Given the description of an element on the screen output the (x, y) to click on. 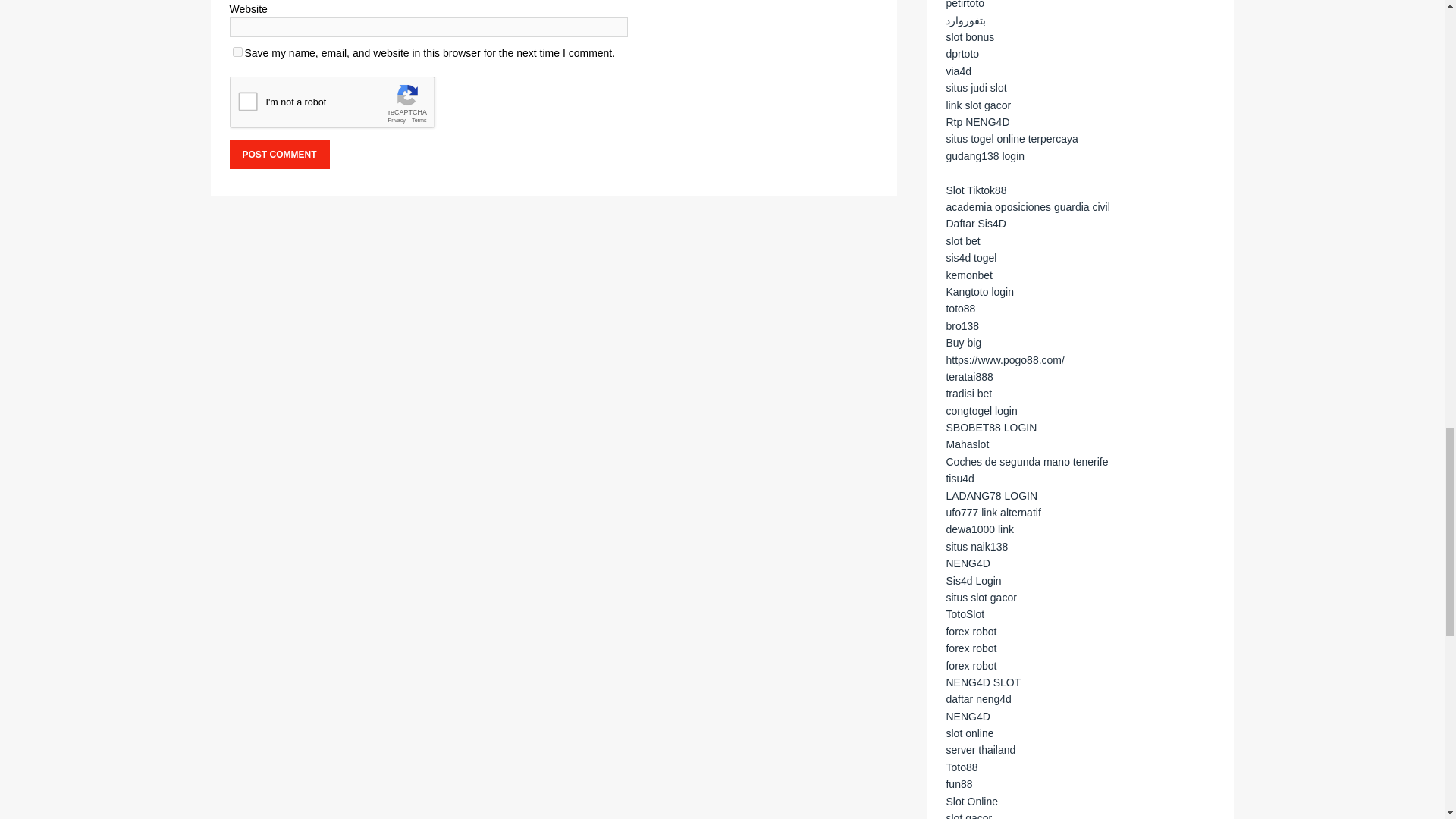
Post Comment (278, 154)
Post Comment (278, 154)
yes (236, 51)
reCAPTCHA (344, 105)
